Given the description of an element on the screen output the (x, y) to click on. 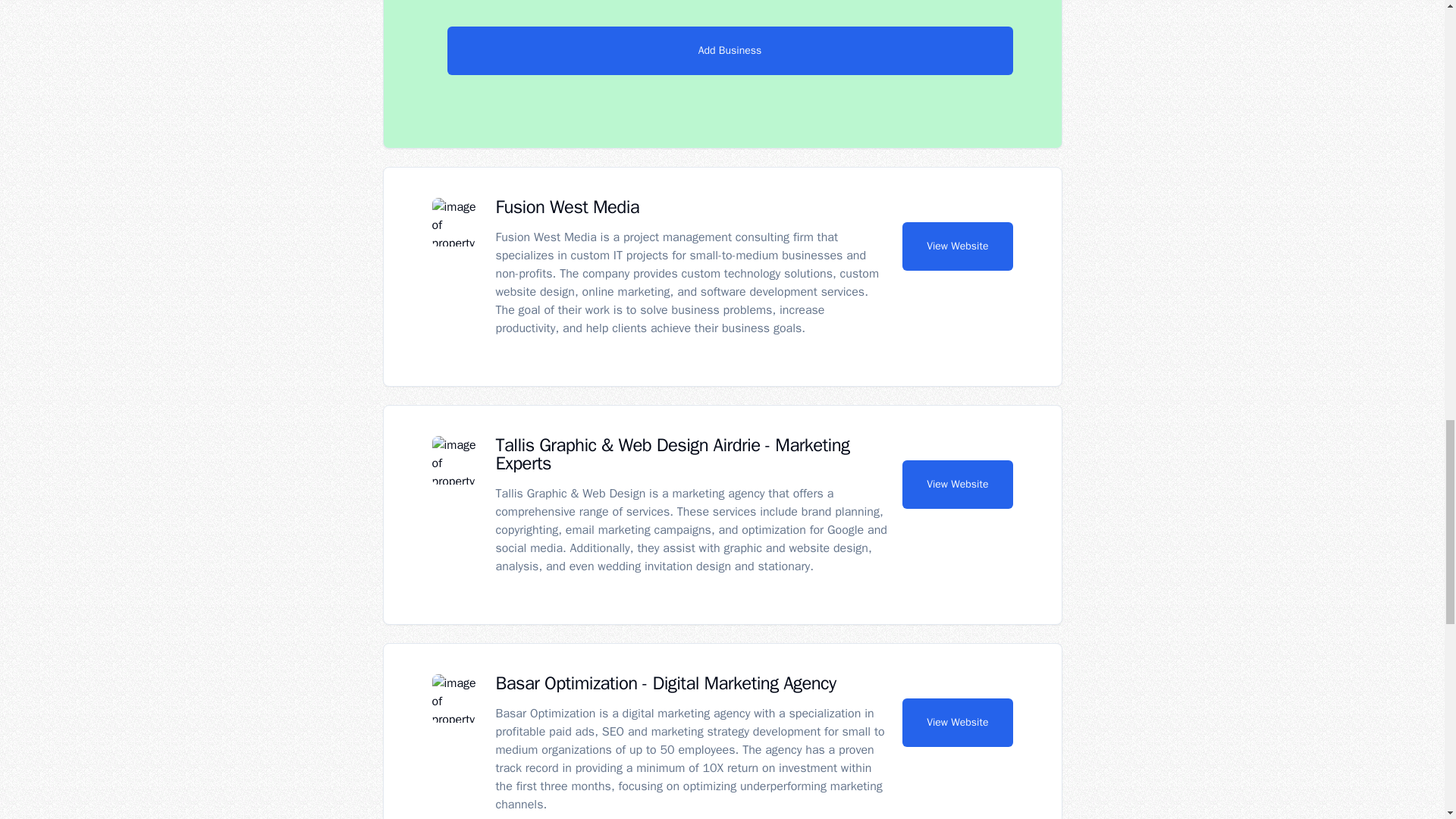
View Website (956, 246)
View Website (956, 484)
View Website (956, 722)
Add Business (729, 50)
